Given the description of an element on the screen output the (x, y) to click on. 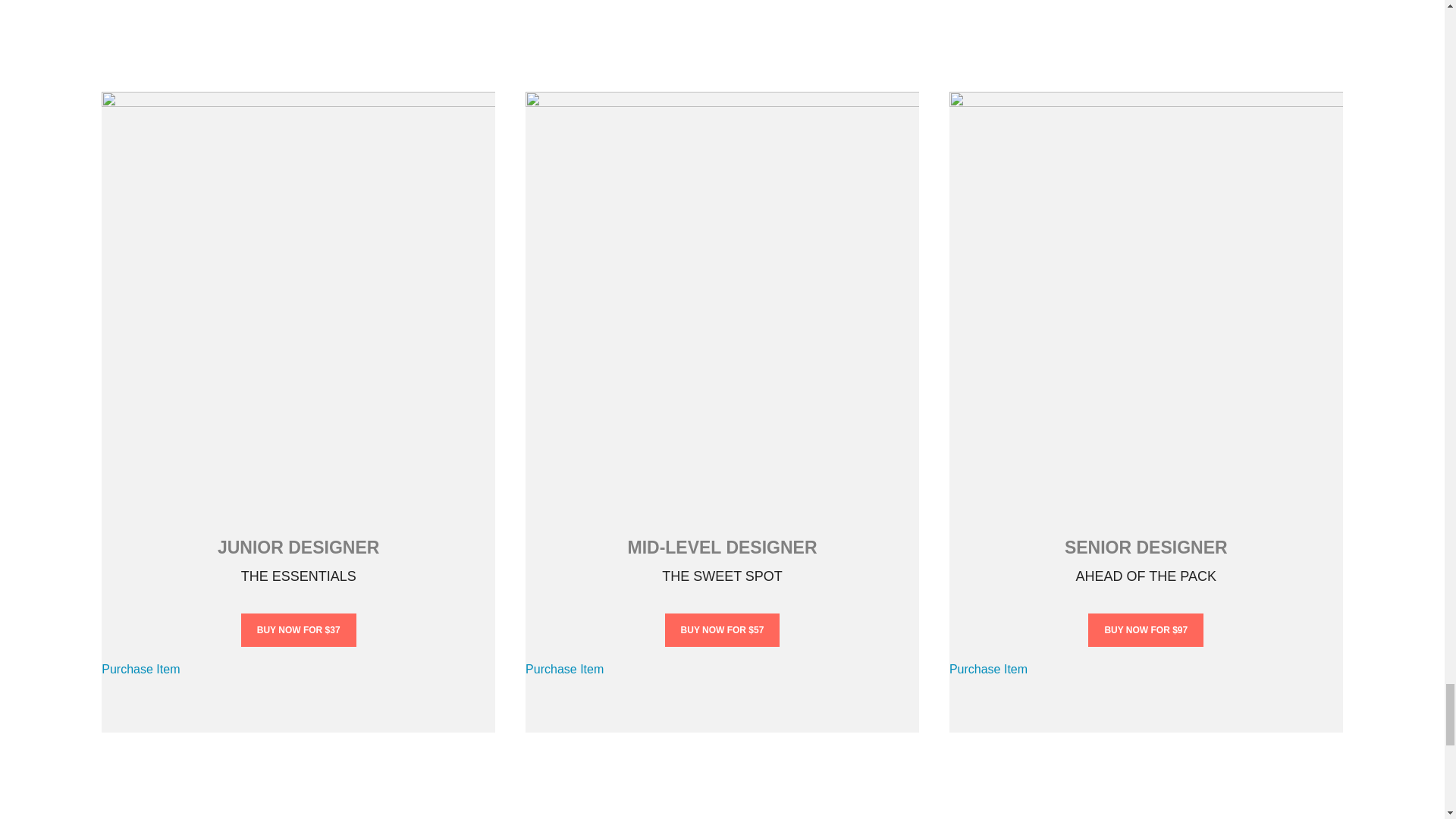
Purchase Item (988, 668)
Purchase Item (140, 668)
Purchase Item (564, 668)
